Given the description of an element on the screen output the (x, y) to click on. 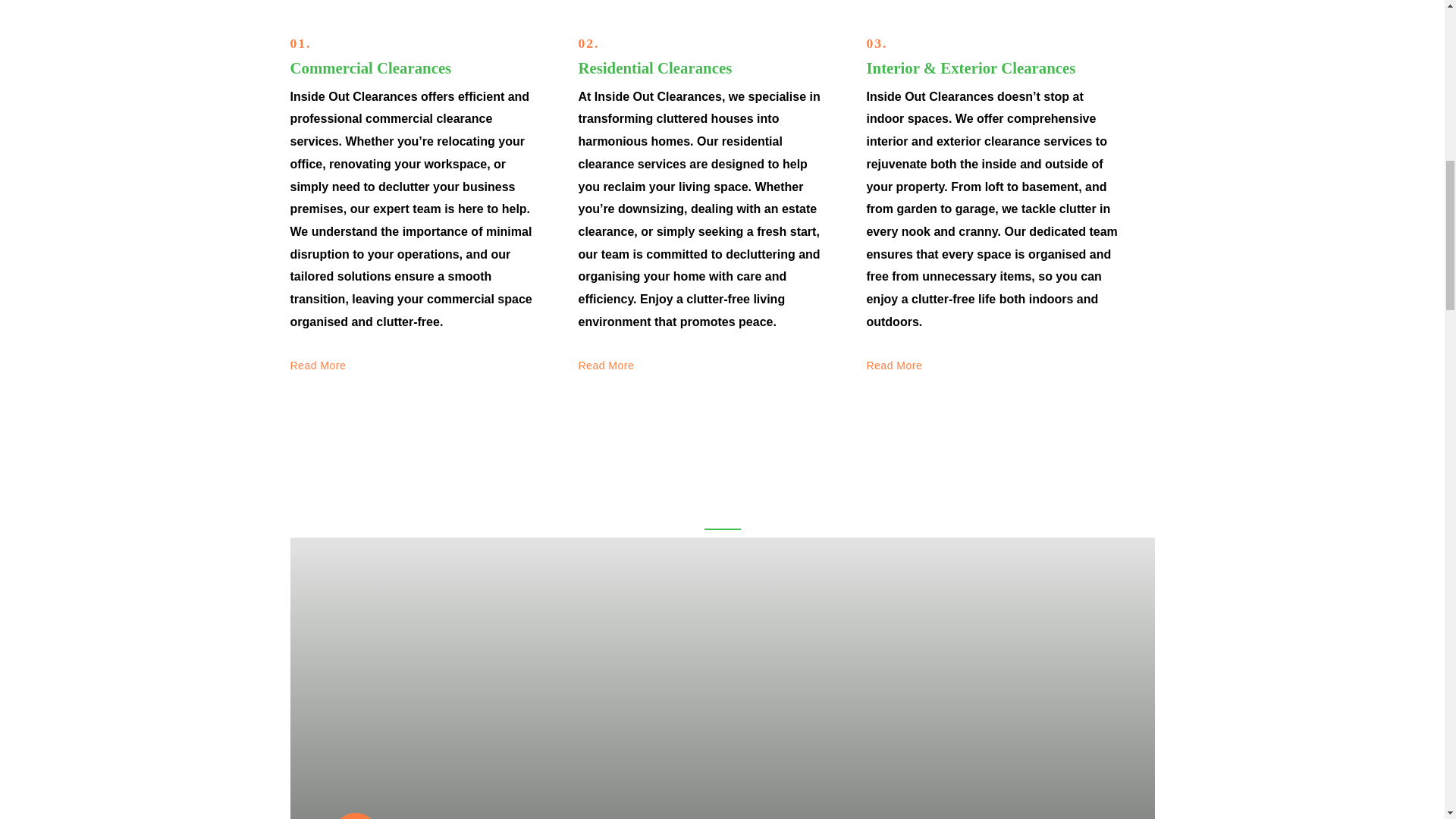
Read More (317, 365)
Read More (605, 365)
Read More (893, 365)
